Given the description of an element on the screen output the (x, y) to click on. 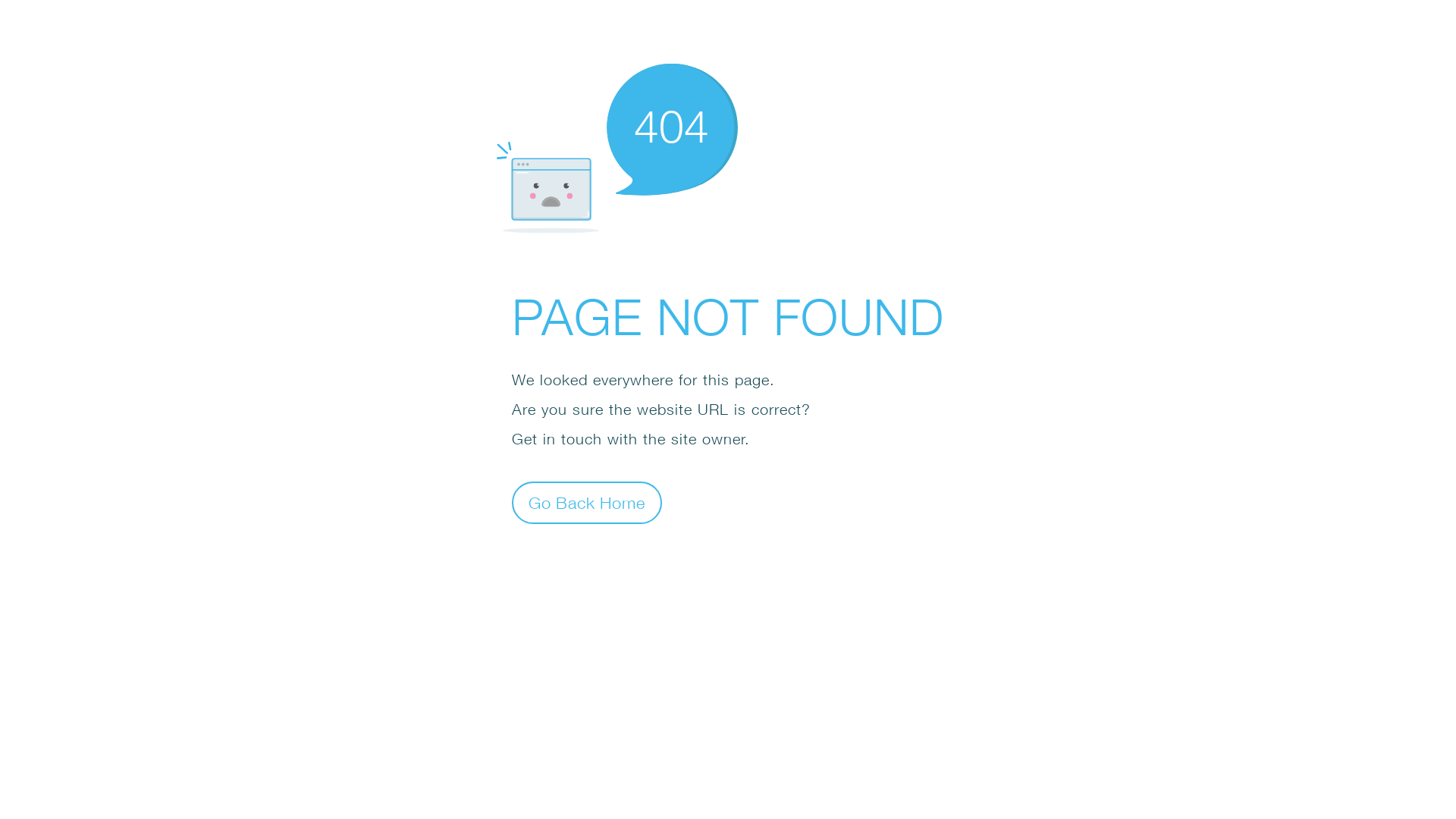
Go Back Home Element type: text (586, 502)
